Given the description of an element on the screen output the (x, y) to click on. 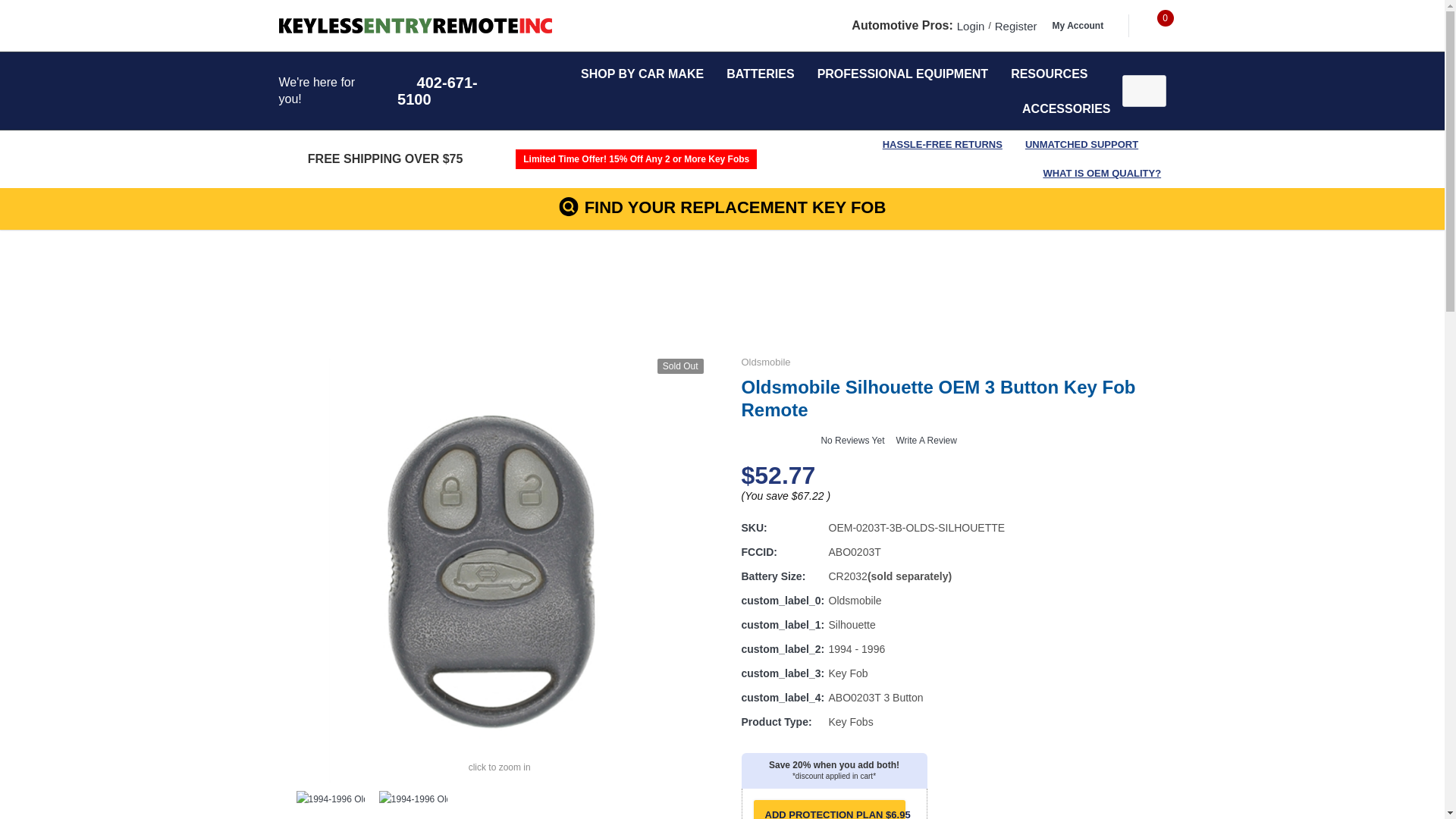
Keyless Entry Remote (415, 25)
